Given the description of an element on the screen output the (x, y) to click on. 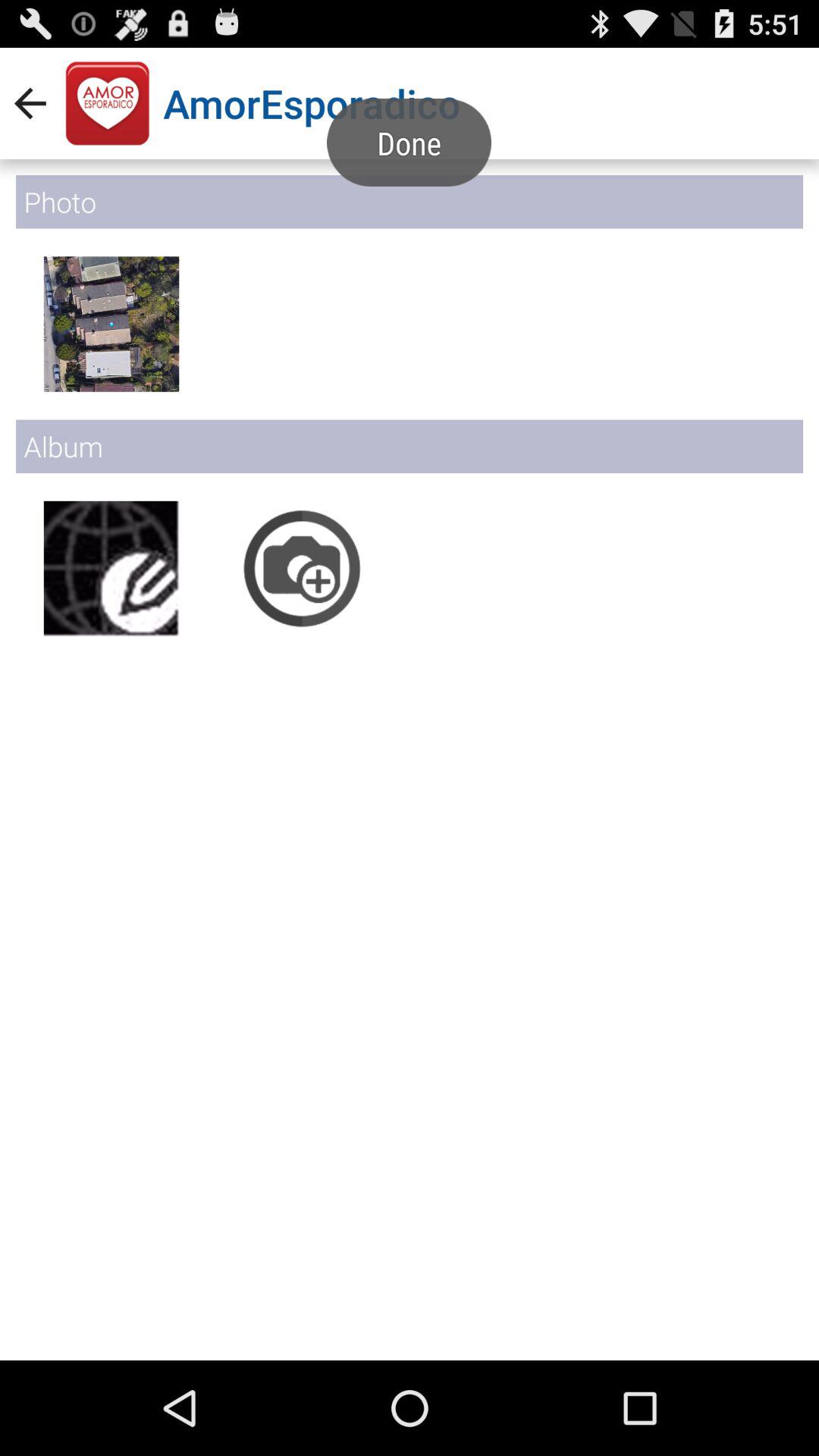
select the first image from the top (110, 324)
select the symbol left to amoresporadico (107, 103)
